Given the description of an element on the screen output the (x, y) to click on. 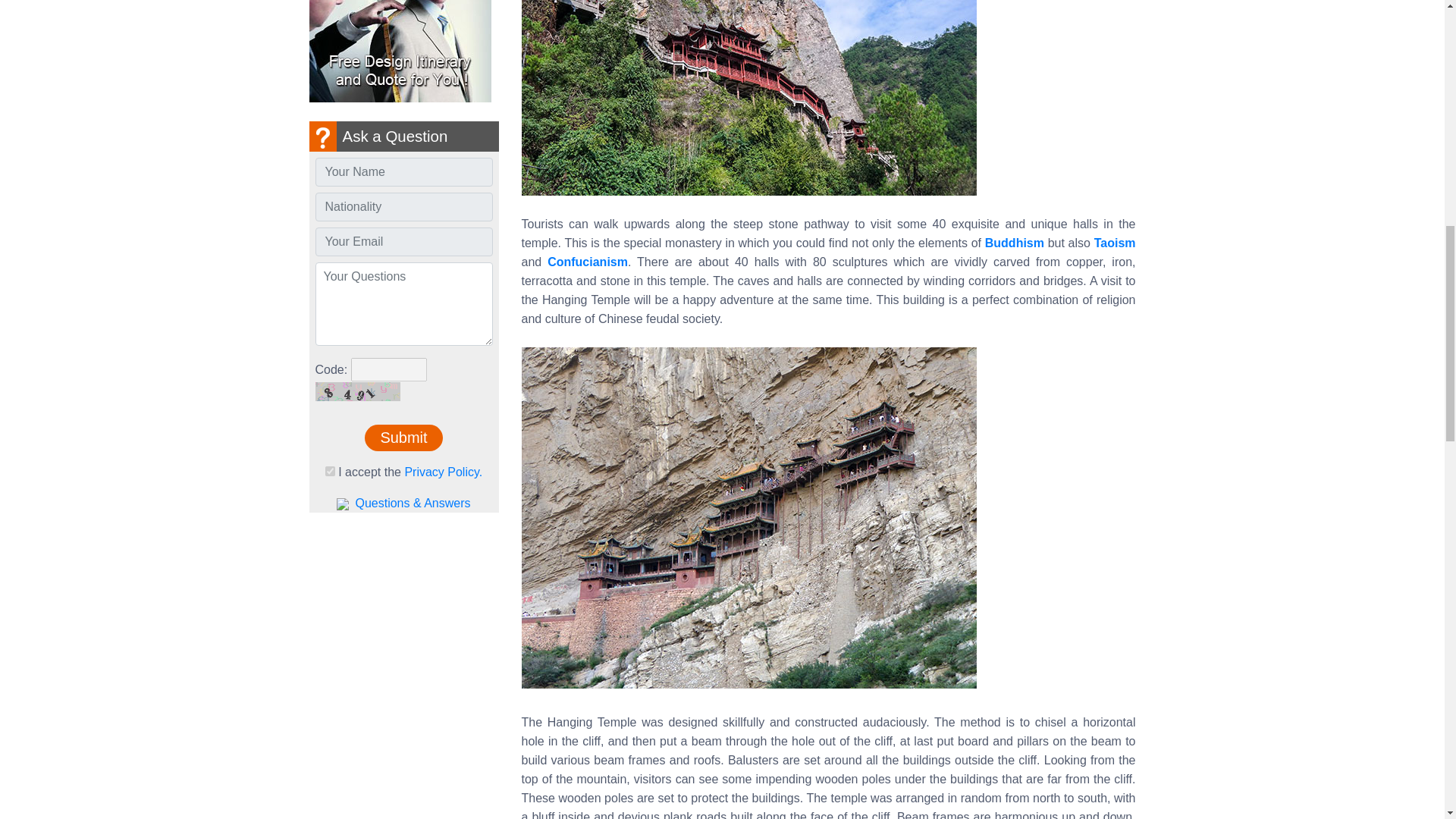
on (329, 470)
Submit (403, 438)
please select the above destinations that you want to go (404, 303)
